Given the description of an element on the screen output the (x, y) to click on. 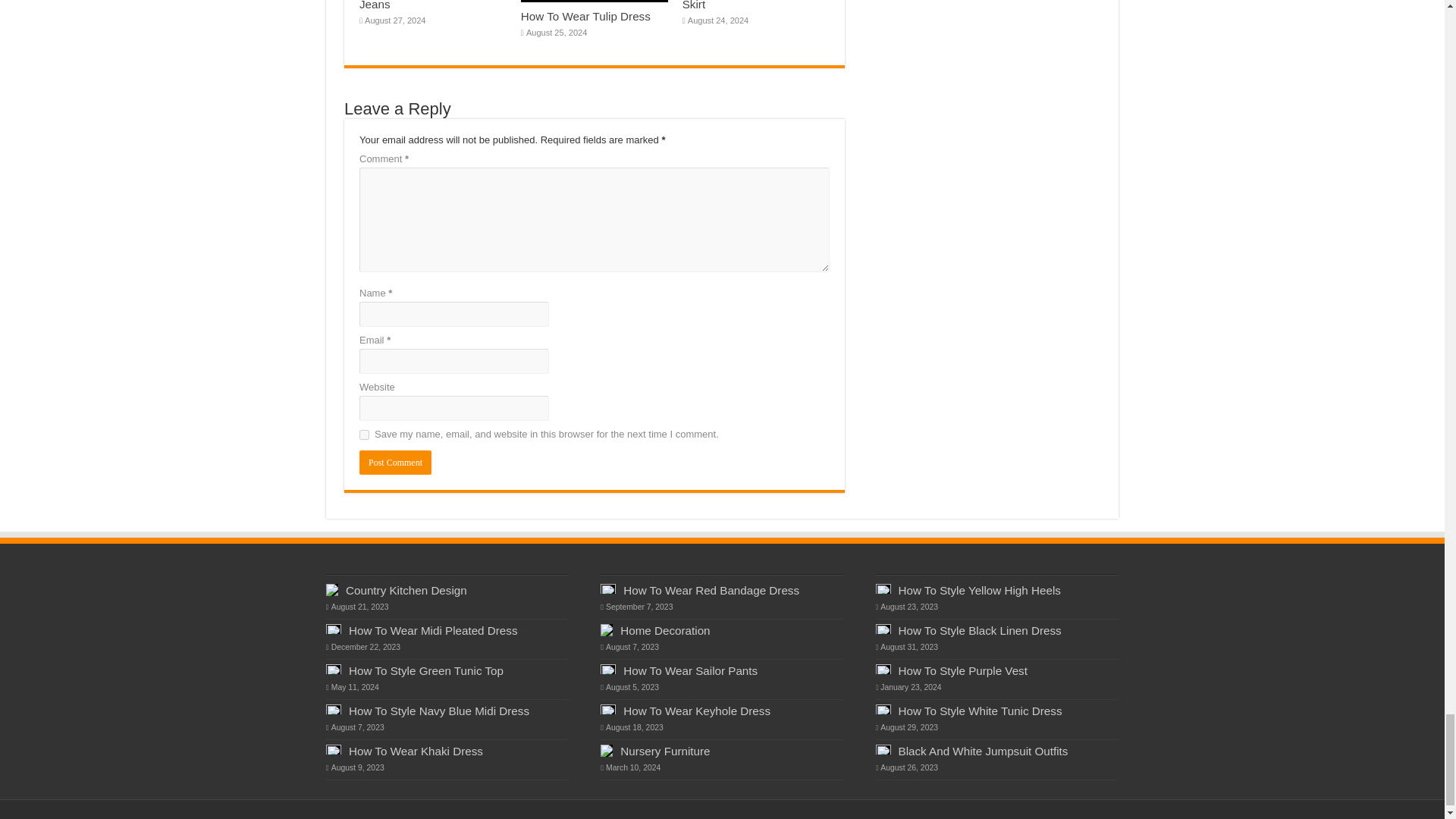
How To Wear Pink Plaid Skirt (744, 5)
How To Wear Midi Pleated Dress (433, 630)
How To Wear Shrug With Jeans (423, 5)
How To Wear Tulip Dress (585, 15)
yes (364, 434)
Post Comment (394, 462)
Post Comment (394, 462)
Country Kitchen Design (406, 590)
